Given the description of an element on the screen output the (x, y) to click on. 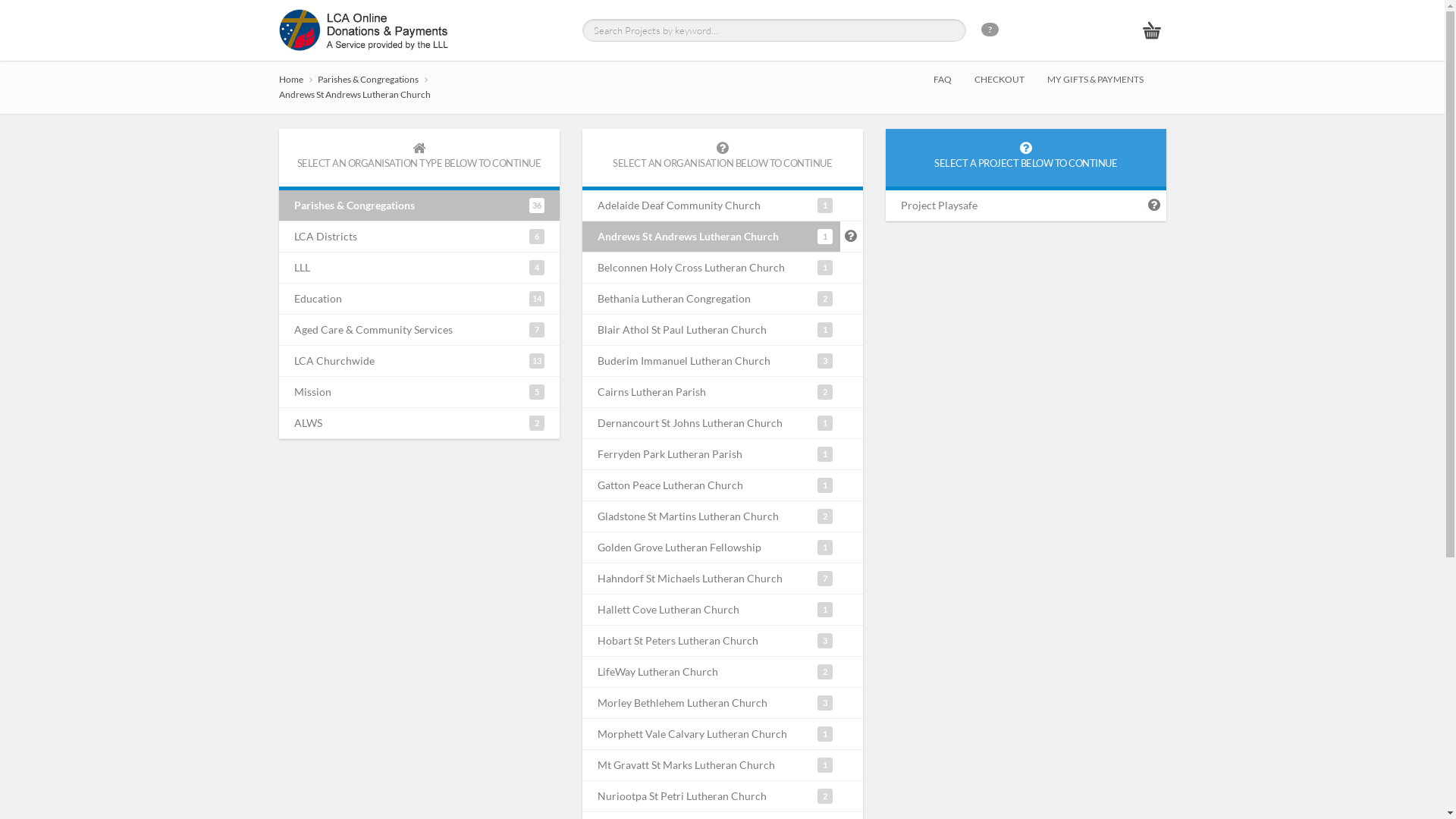
FAQ Element type: text (952, 79)
Andrews St Andrews Lutheran Church Element type: text (359, 94)
2
Bethania Lutheran Congregation Element type: text (711, 298)
1
Mt Gravatt St Marks Lutheran Church Element type: text (711, 764)
1
Gatton Peace Lutheran Church Element type: text (711, 485)
1
Morphett Vale Calvary Lutheran Church Element type: text (711, 733)
2
LifeWay Lutheran Church Element type: text (711, 671)
7
Aged Care & Community Services Element type: text (419, 329)
14
Education Element type: text (419, 298)
36
Parishes & Congregations Element type: text (419, 205)
3
Buderim Immanuel Lutheran Church Element type: text (711, 360)
CHECKOUT Element type: text (1009, 79)
1
Golden Grove Lutheran Fellowship Element type: text (711, 547)
1
Andrews St Andrews Lutheran Church Element type: text (711, 236)
1
Adelaide Deaf Community Church Element type: text (711, 205)
3
Morley Bethlehem Lutheran Church Element type: text (711, 702)
Parishes & Congregations Element type: text (373, 78)
2
ALWS Element type: text (419, 422)
1
Hallett Cove Lutheran Church Element type: text (711, 609)
6
LCA Districts Element type: text (419, 236)
7
Hahndorf St Michaels Lutheran Church Element type: text (711, 578)
4
LLL Element type: text (419, 267)
3
Hobart St Peters Lutheran Church Element type: text (711, 640)
2
Cairns Lutheran Parish Element type: text (711, 391)
13
LCA Churchwide Element type: text (419, 360)
1
Belconnen Holy Cross Lutheran Church Element type: text (711, 267)
5
Mission Element type: text (419, 391)
2
Nuriootpa St Petri Lutheran Church Element type: text (711, 796)
1
Dernancourt St Johns Lutheran Church Element type: text (711, 422)
MY GIFTS & PAYMENTS Element type: text (1105, 79)
Project Playsafe Element type: text (1014, 205)
1
Blair Athol St Paul Lutheran Church Element type: text (711, 329)
1
Ferryden Park Lutheran Parish Element type: text (711, 454)
2
Gladstone St Martins Lutheran Church Element type: text (711, 516)
Home Element type: text (297, 78)
